Given the description of an element on the screen output the (x, y) to click on. 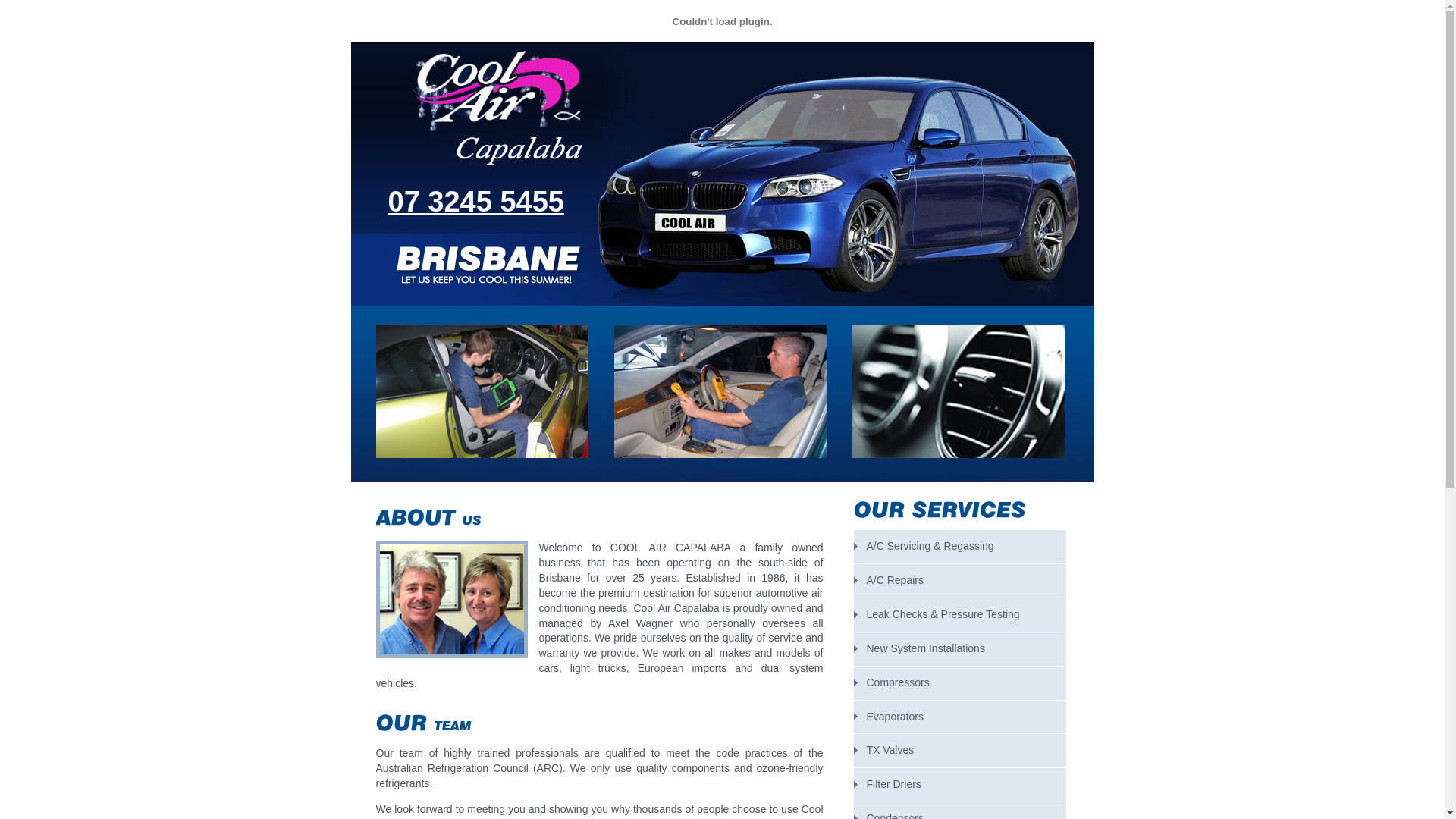
Cool Air Capalaba Element type: hover (958, 391)
Filter Driers Element type: text (959, 784)
A/C Repairs Element type: text (959, 580)
Cool Air Capalaba Element type: hover (720, 391)
Evaporators Element type: text (959, 717)
A/C Servicing & Regassing Element type: text (959, 546)
07 3245 5455 Element type: text (476, 201)
Capalaba Element type: hover (451, 599)
New System Installations Element type: text (959, 648)
TX Valves Element type: text (959, 750)
Leak Checks & Pressure Testing Element type: text (959, 614)
Cool Air Capalaba Element type: hover (482, 391)
header Element type: hover (721, 38)
Compressors Element type: text (959, 682)
